Given the description of an element on the screen output the (x, y) to click on. 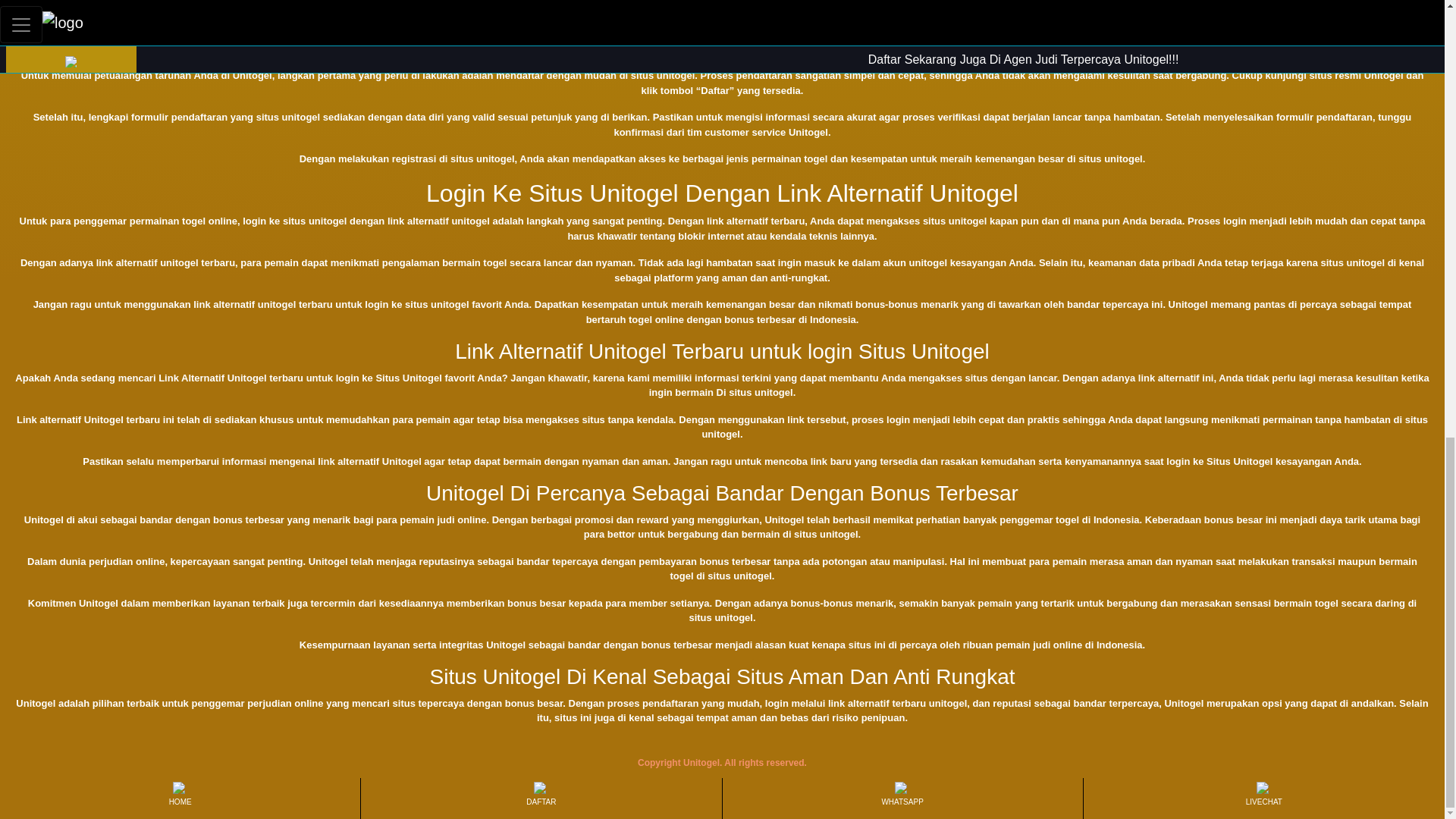
Unitogel (37, 2)
